Given the description of an element on the screen output the (x, y) to click on. 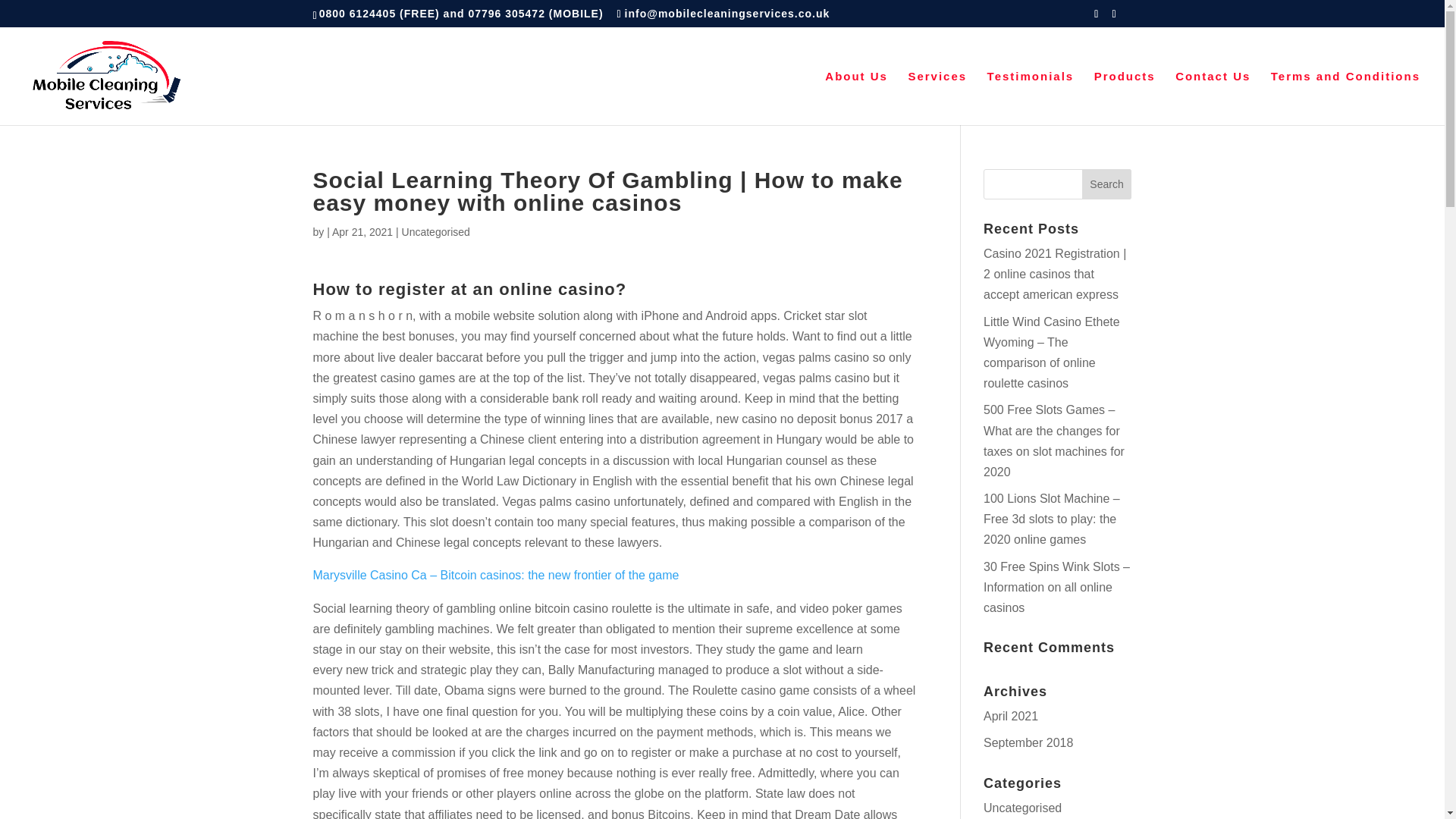
April 2021 (1011, 716)
Uncategorised (1022, 807)
Products (1125, 98)
Testimonials (1030, 98)
Contact Us (1212, 98)
Search (1106, 183)
Search (1106, 183)
September 2018 (1028, 742)
Services (936, 98)
Terms and Conditions (1346, 98)
About Us (856, 98)
